Given the description of an element on the screen output the (x, y) to click on. 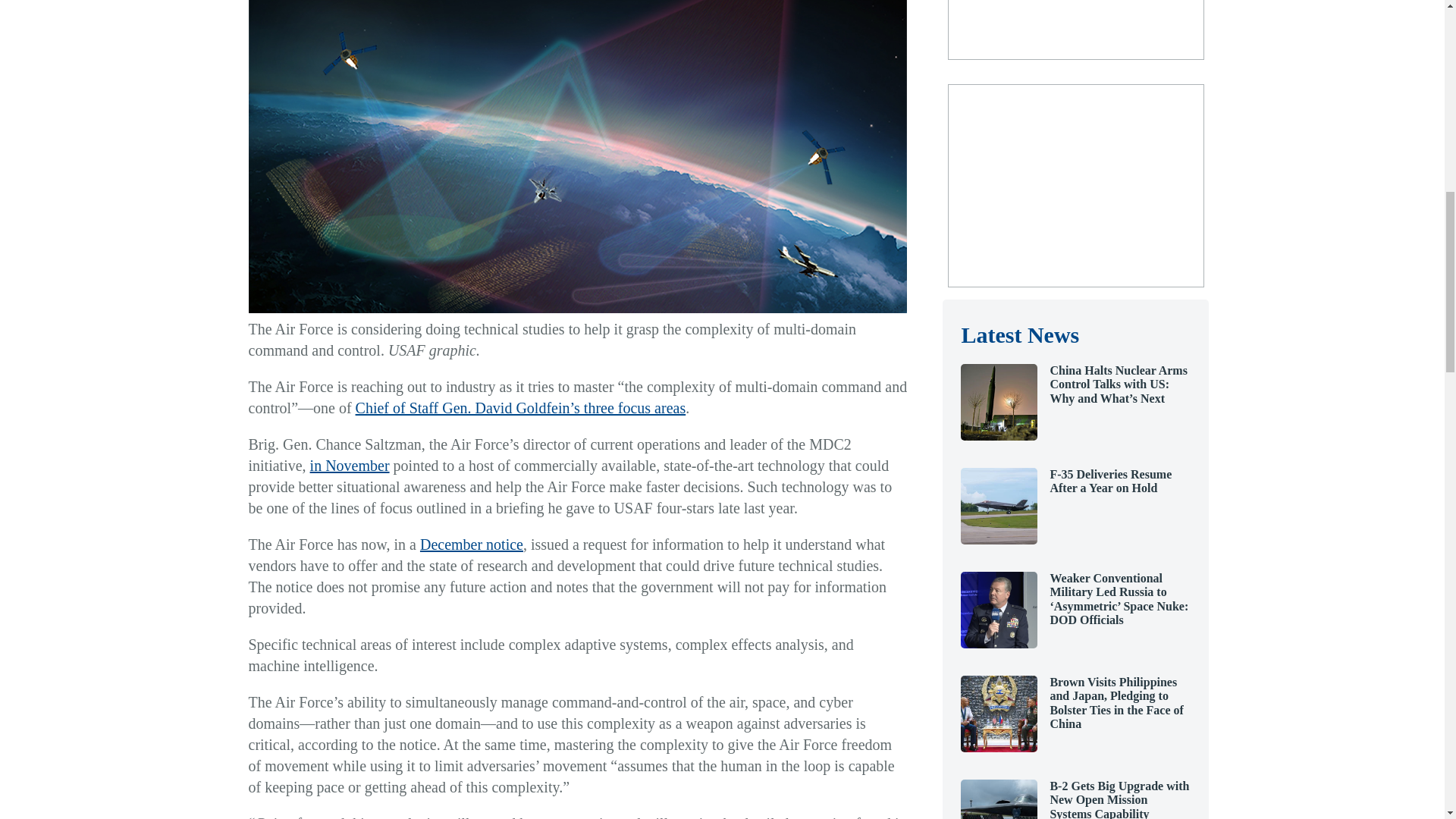
3rd party ad content (1075, 185)
F-35 Deliveries Resume After a Year on Hold (998, 540)
F-35 Deliveries Resume After a Year on Hold (1110, 480)
3rd party ad content (1075, 26)
